Given the description of an element on the screen output the (x, y) to click on. 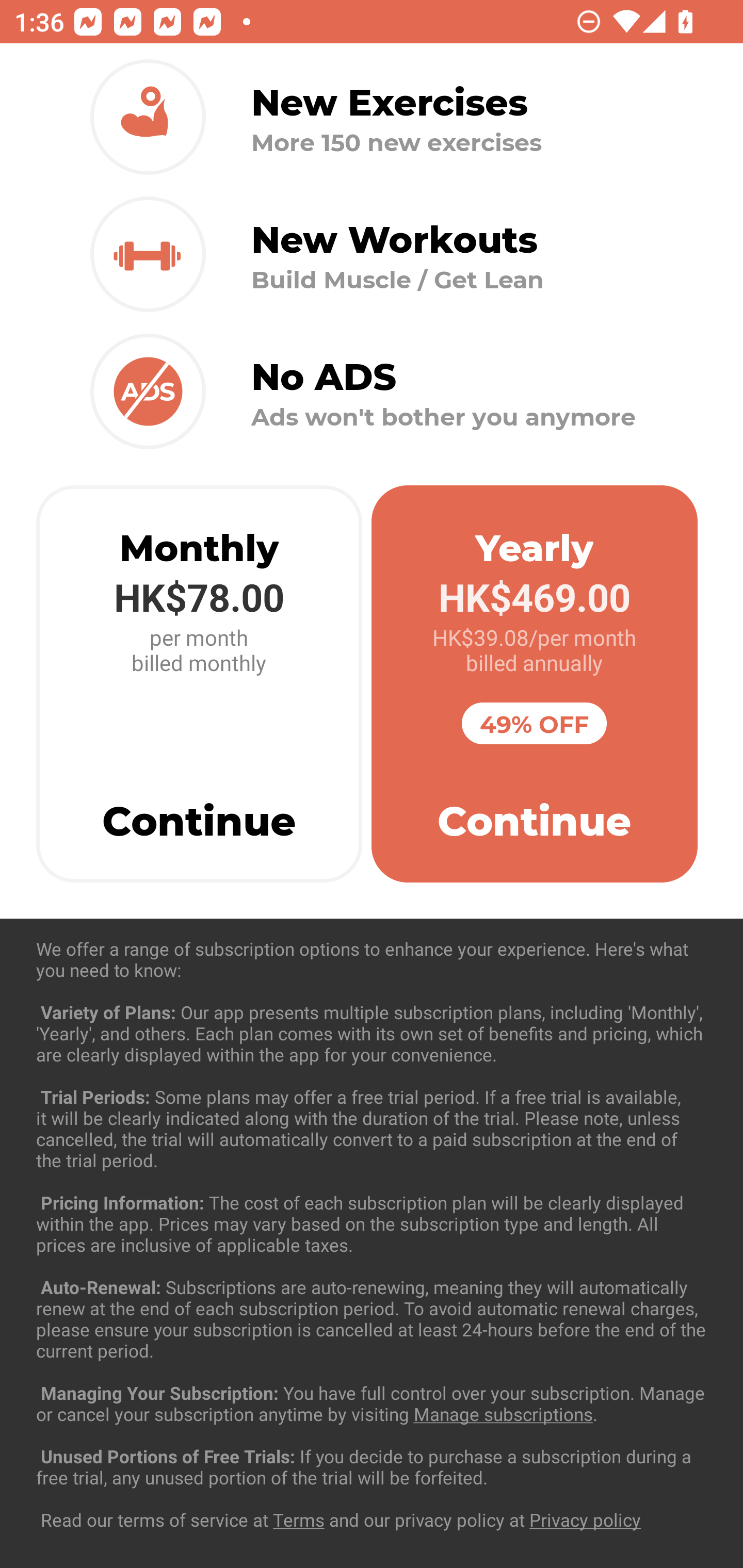
Monthly HK$78.00 per month
billed monthly Continue (199, 684)
Exercise Chest 37 exercises (371, 1033)
Exercise Forearms 4 exercises (371, 1232)
Exercise Legs 36 exercises (371, 1430)
